Given the description of an element on the screen output the (x, y) to click on. 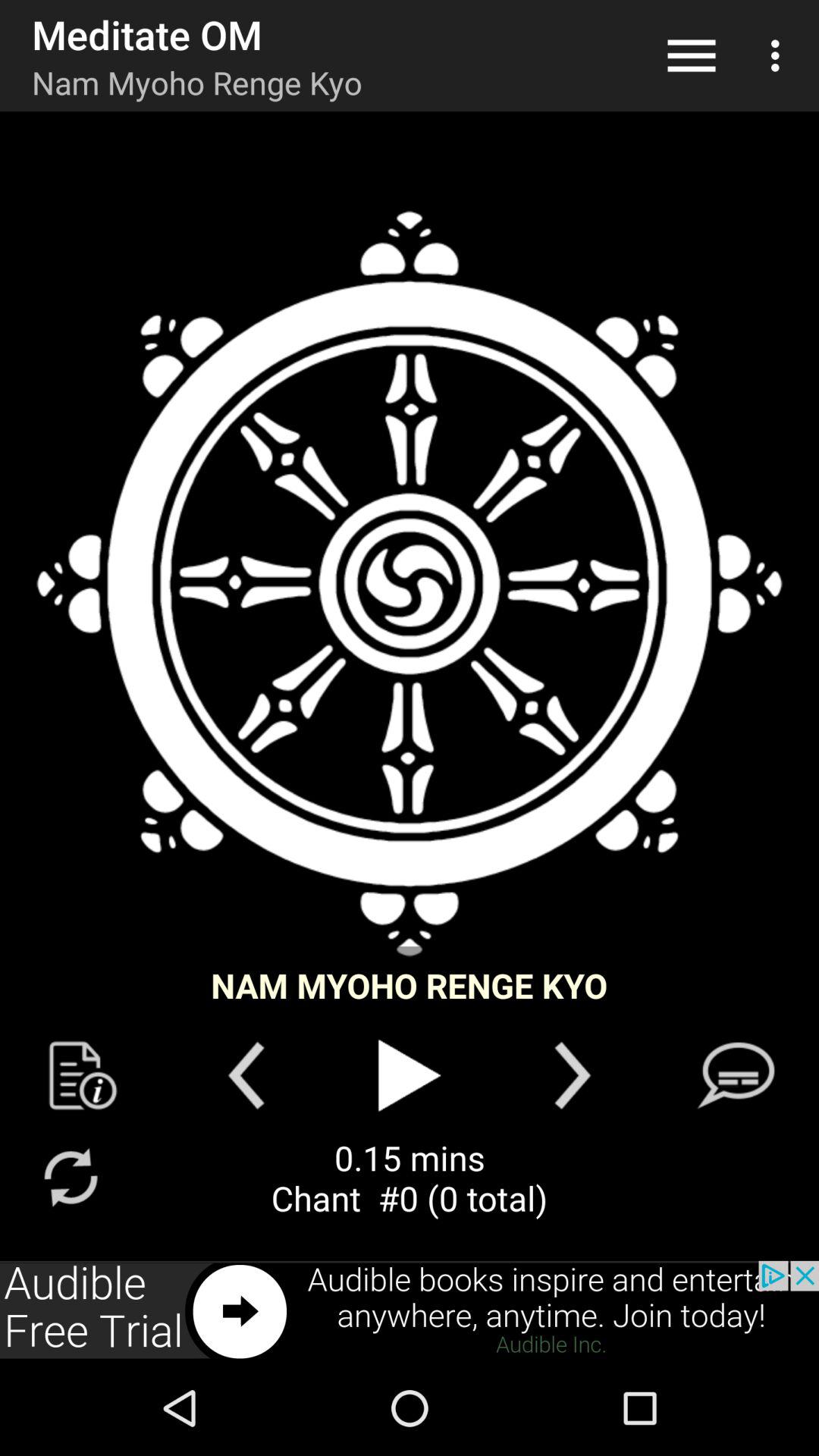
advertisement page (409, 1310)
